Given the description of an element on the screen output the (x, y) to click on. 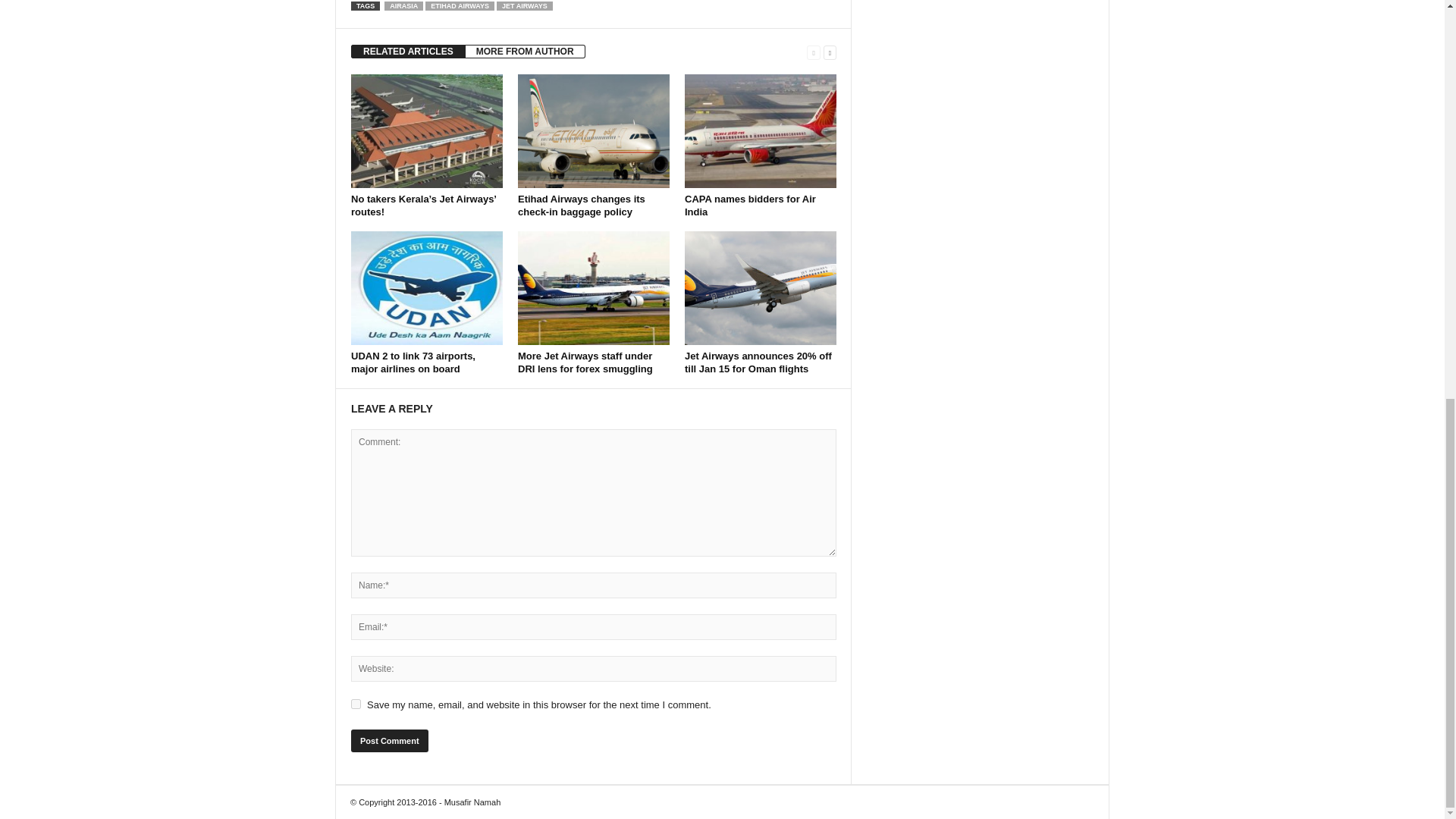
yes (355, 704)
Post Comment (389, 740)
